Given the description of an element on the screen output the (x, y) to click on. 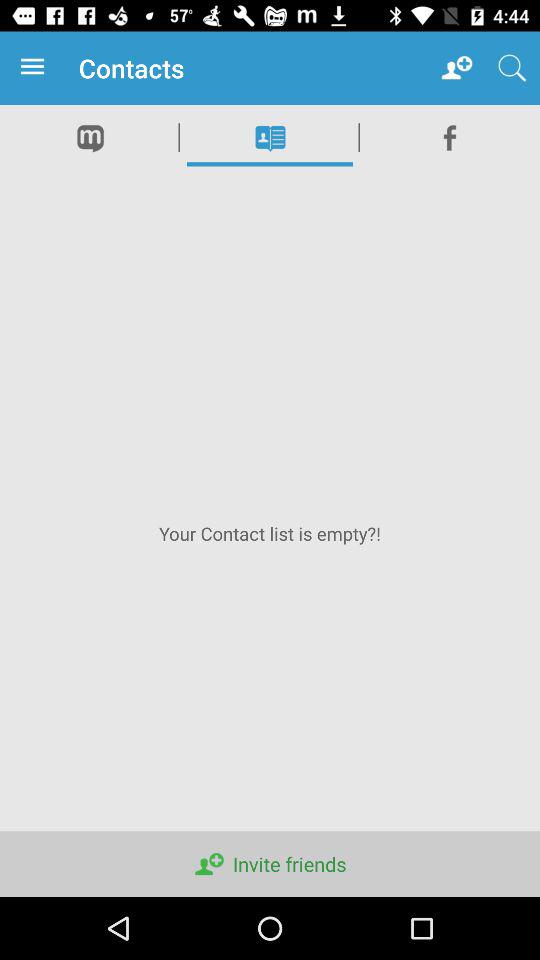
tap icon next to contacts (456, 67)
